Given the description of an element on the screen output the (x, y) to click on. 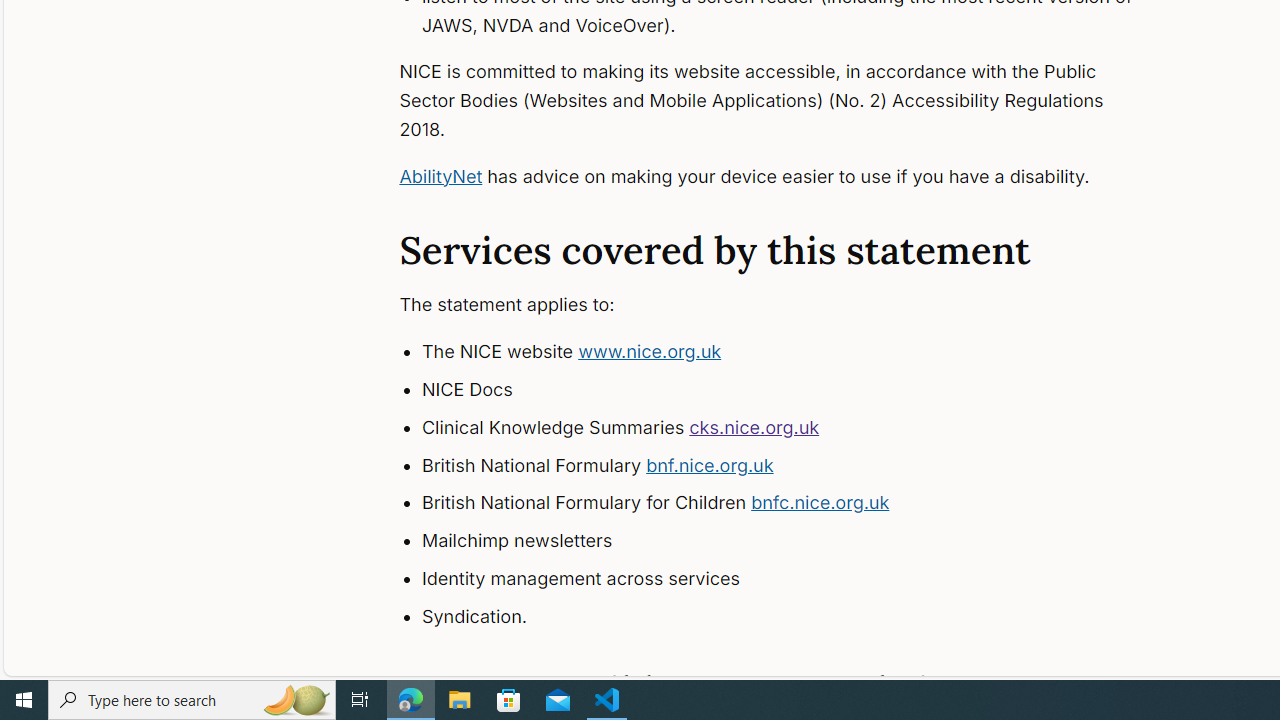
Clinical Knowledge Summaries cks.nice.org.uk (796, 427)
AbilityNet (440, 175)
NICE Docs (796, 389)
British National Formulary for Children bnfc.nice.org.uk (796, 503)
cks.nice.org.uk (754, 426)
bnf.nice.org.uk (710, 464)
The NICE website www.nice.org.uk (796, 352)
Identity management across services (796, 578)
British National Formulary bnf.nice.org.uk (796, 465)
Syndication. (796, 616)
Mailchimp newsletters (796, 541)
bnfc.nice.org.uk (820, 502)
www.nice.org.uk (649, 351)
